Given the description of an element on the screen output the (x, y) to click on. 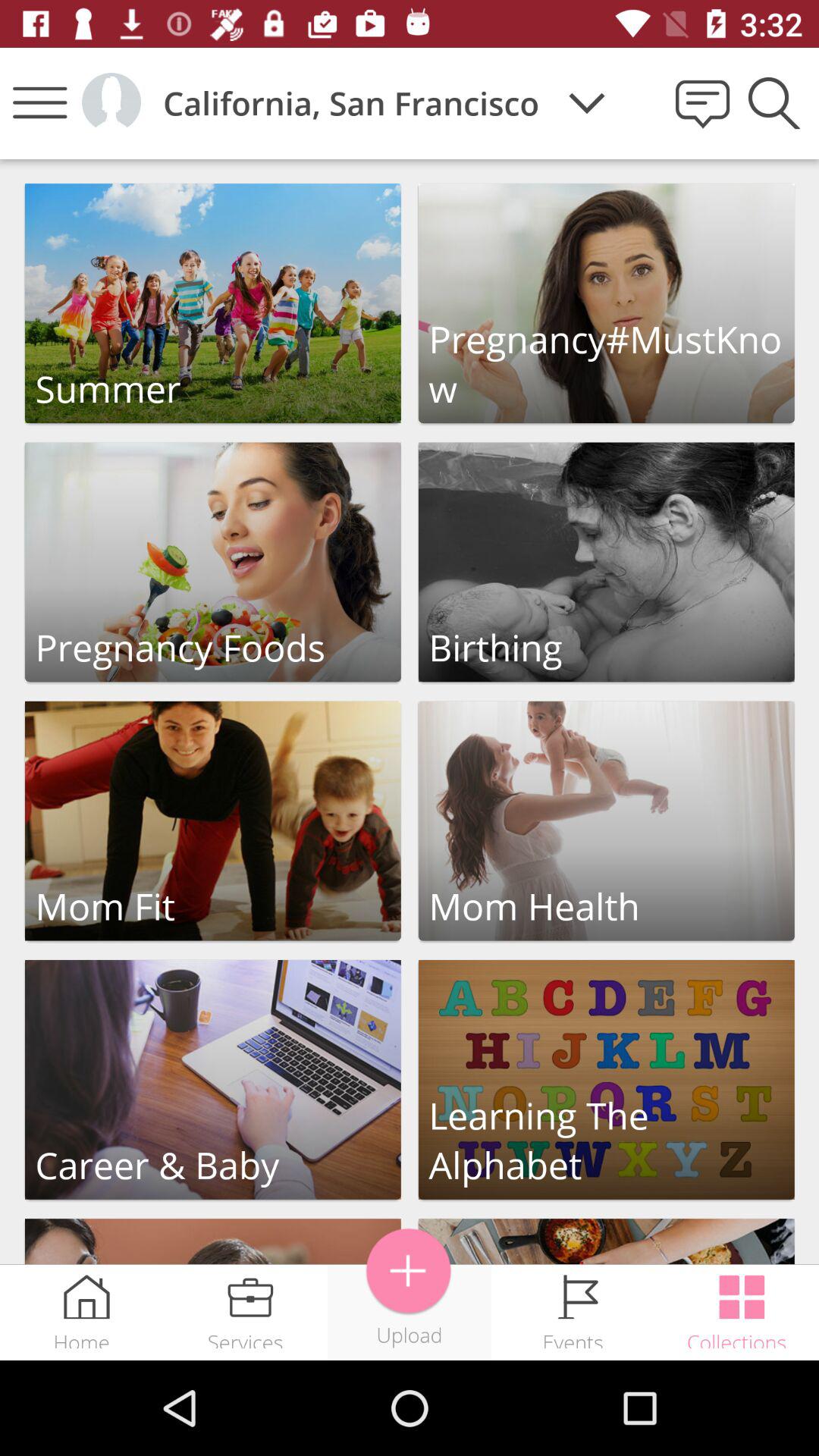
view summer (212, 303)
